Given the description of an element on the screen output the (x, y) to click on. 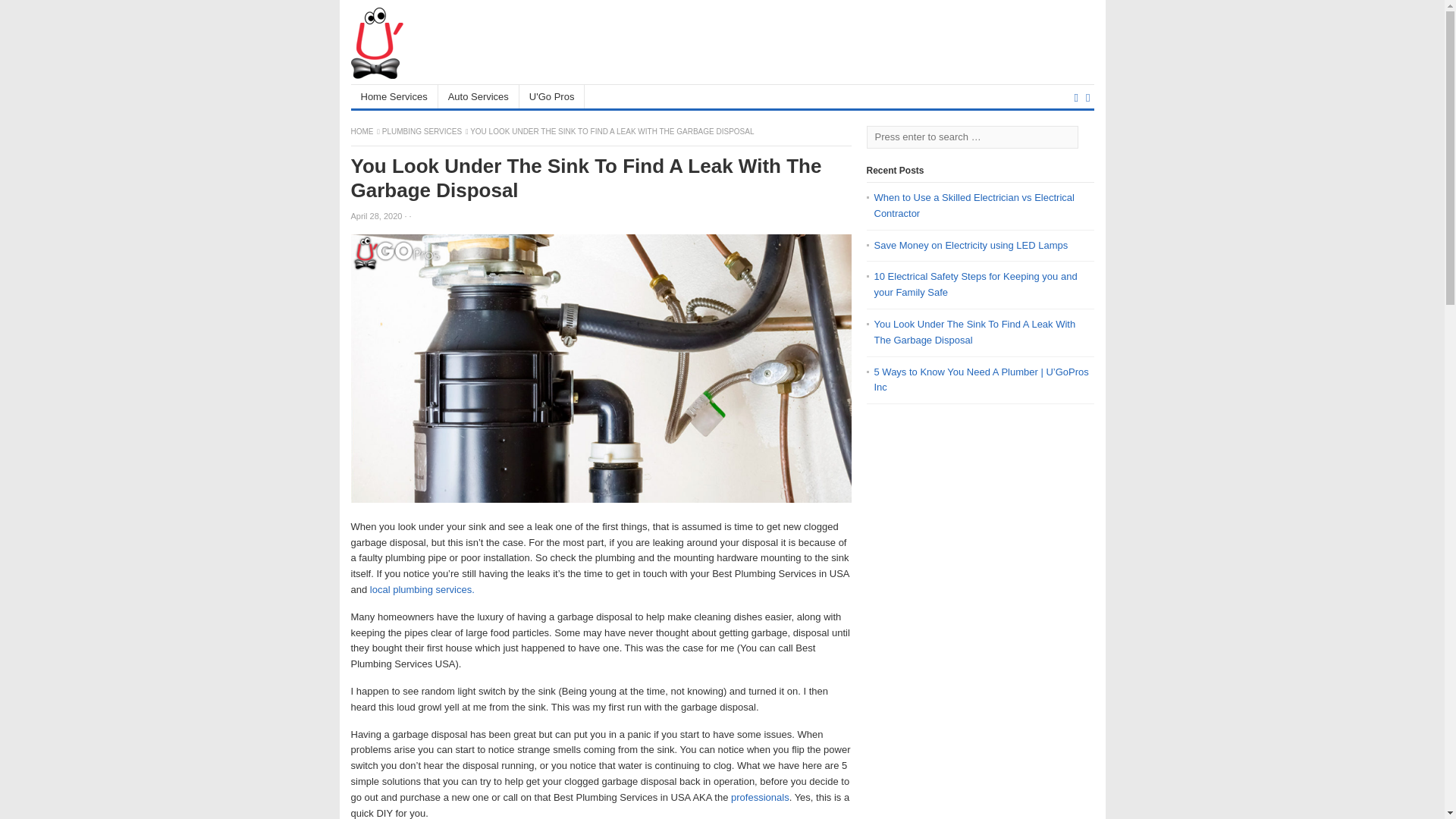
Auto Services (478, 96)
Home Services (394, 96)
Facebook (1075, 97)
HOME (362, 131)
Search for: (971, 137)
Save Money on Electricity using LED Lamps (970, 244)
PLUMBING SERVICES (422, 131)
Twitter (1087, 97)
When to Use a Skilled Electrician vs Electrical Contractor (973, 205)
professionals (758, 797)
U'Go Pros (552, 96)
U'GoPros Blogs (362, 131)
local plumbing services. (421, 589)
